Given the description of an element on the screen output the (x, y) to click on. 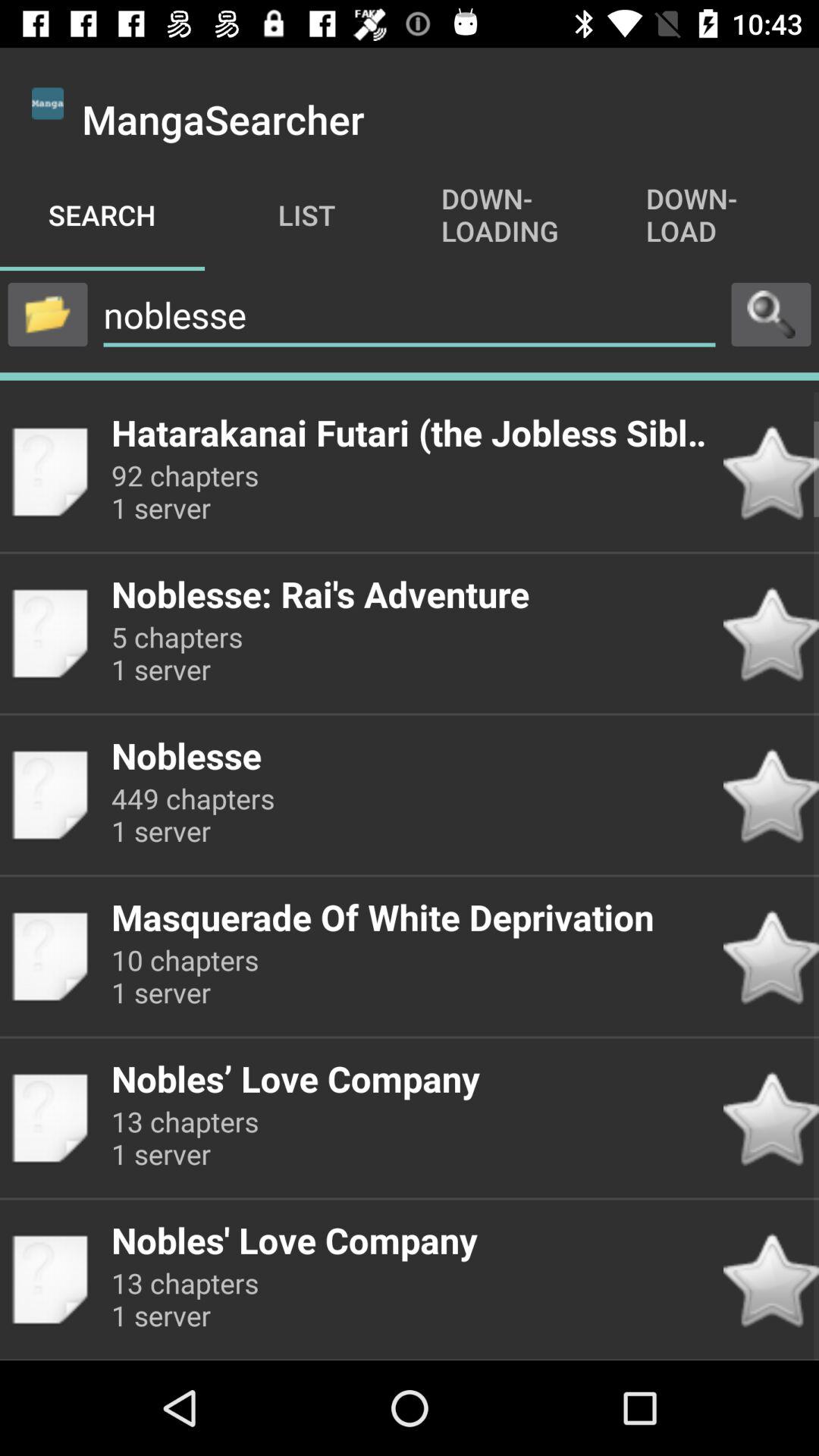
search file (771, 314)
